Given the description of an element on the screen output the (x, y) to click on. 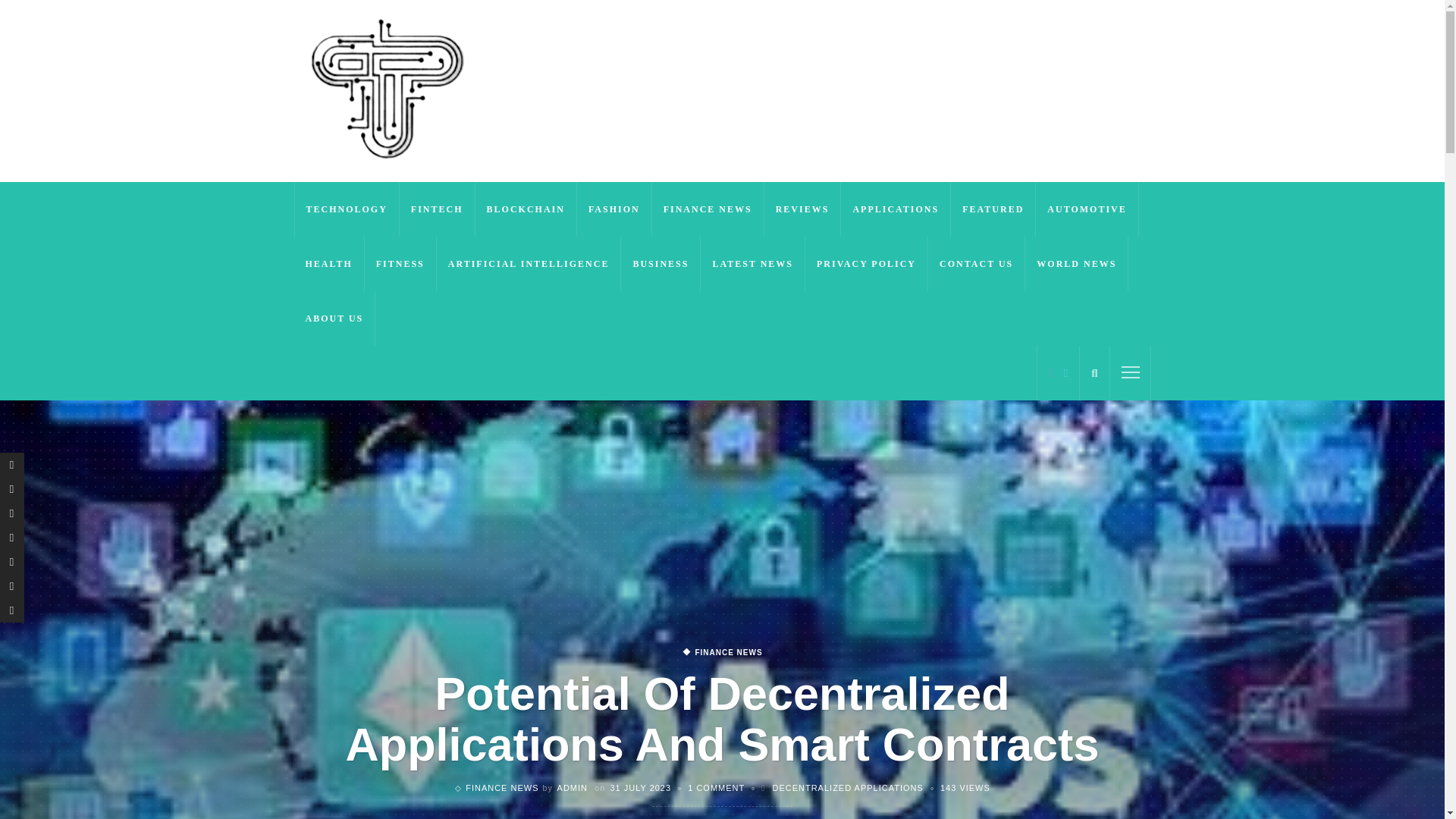
TECHNOLOGY (346, 208)
FINANCE NEWS (708, 208)
REVIEWS (802, 208)
AUTOMOTIVE (1086, 208)
finance news (721, 652)
FASHION (614, 208)
FEATURED (992, 208)
HEALTH (329, 263)
finance news (501, 787)
FINTECH (437, 208)
